Given the description of an element on the screen output the (x, y) to click on. 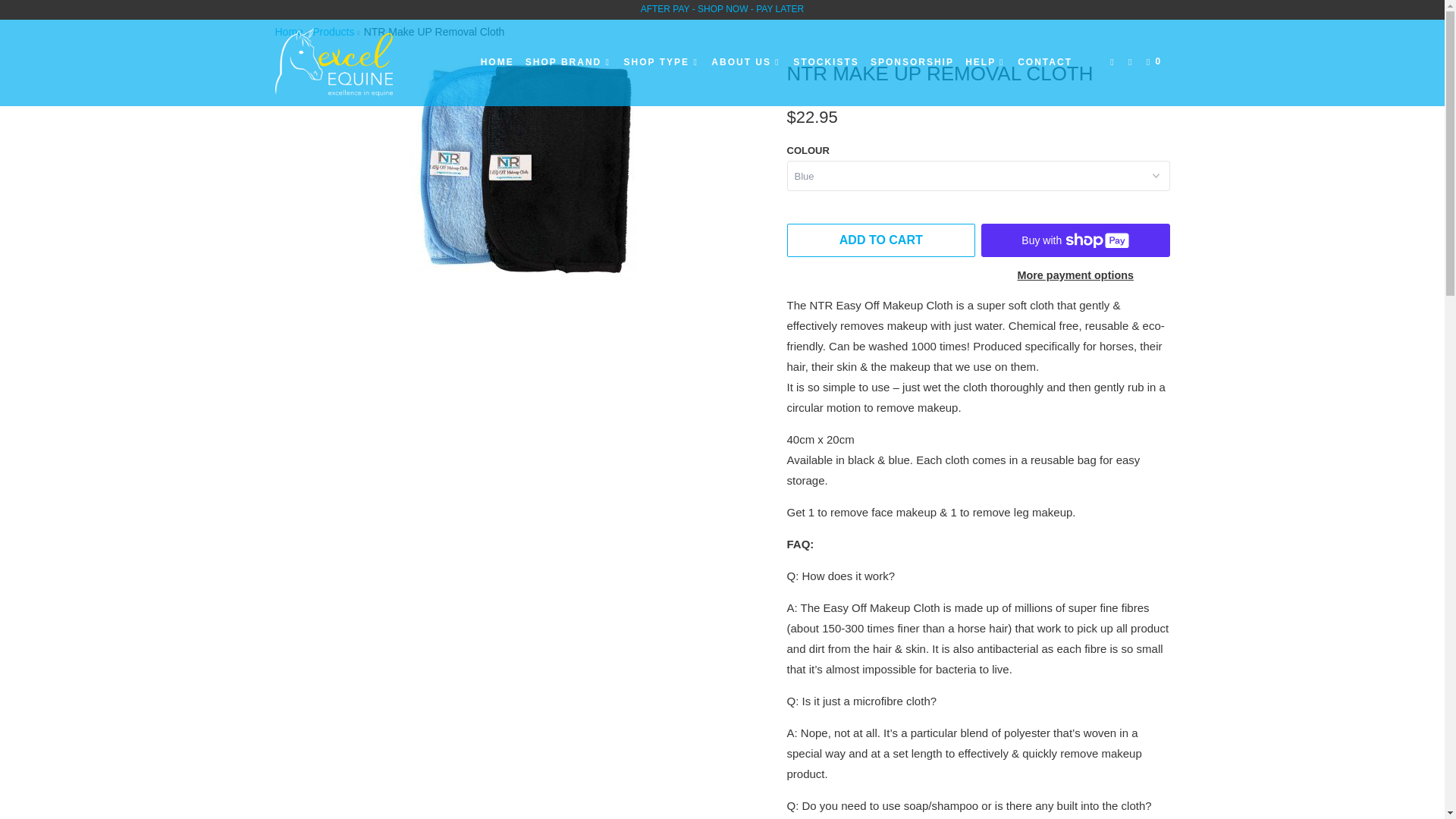
Products (333, 31)
NTR Make UP Removal Cloth (523, 167)
excelequine (352, 62)
excelequine (288, 31)
